Given the description of an element on the screen output the (x, y) to click on. 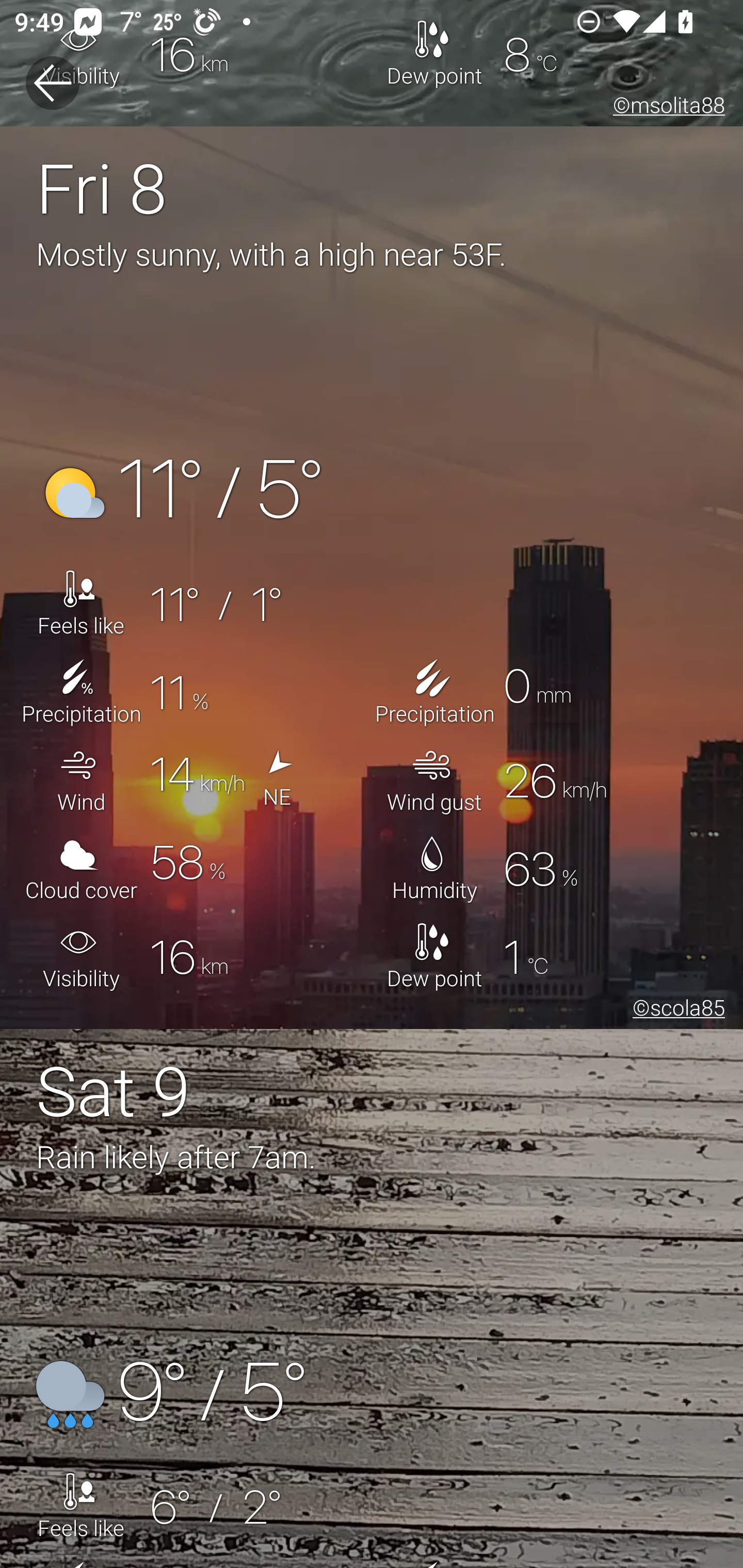
©msolita88 (665, 108)
©scola85 (675, 1010)
